Given the description of an element on the screen output the (x, y) to click on. 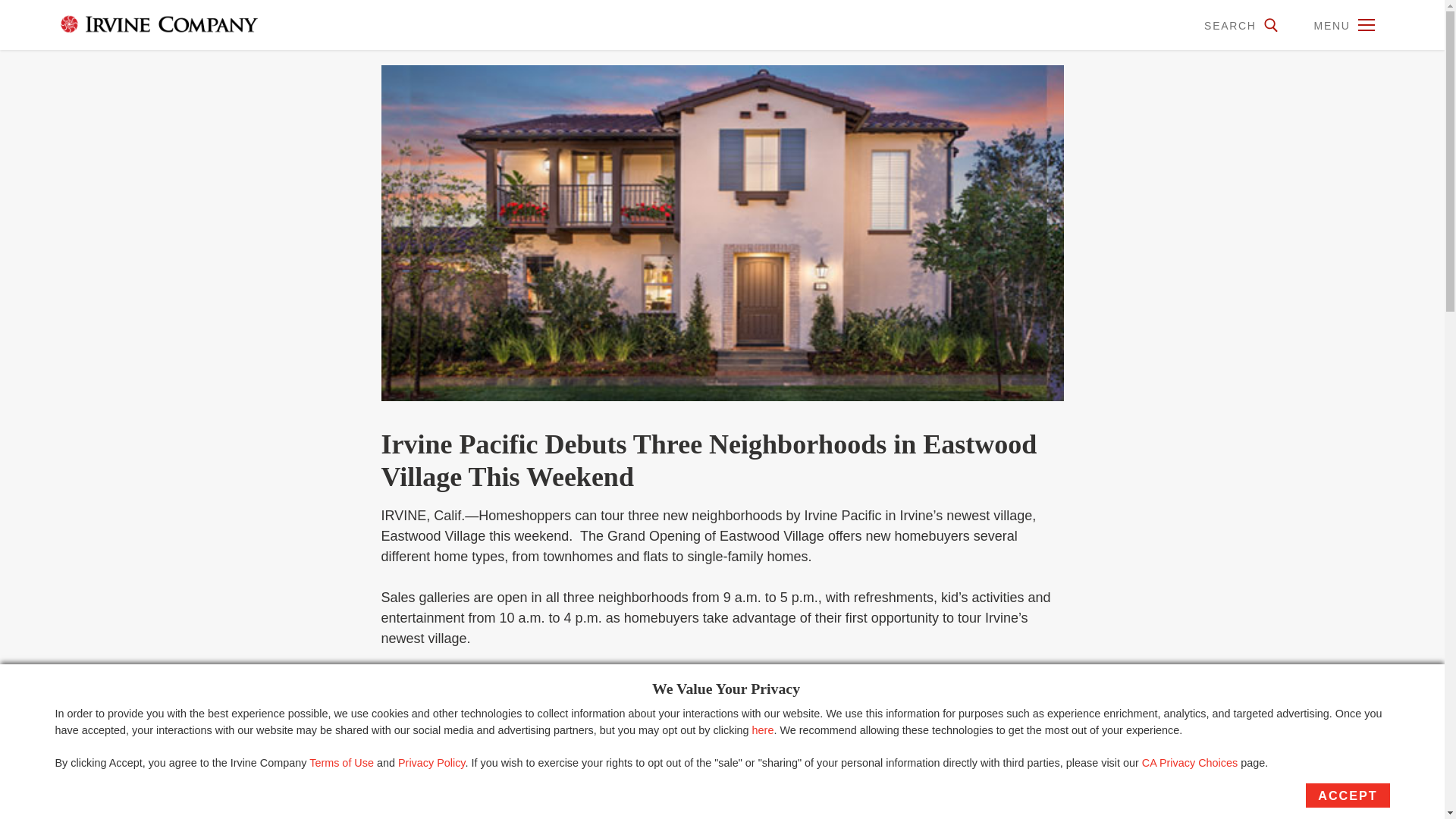
Exercise your rights under CCPA (1189, 762)
MENU Show Menu (1342, 24)
Show Search (1270, 25)
Read our Privacy Policy (431, 762)
Show Menu (1365, 25)
Read our Terms of Use (341, 762)
Close this banner (763, 729)
Home (140, 24)
